Given the description of an element on the screen output the (x, y) to click on. 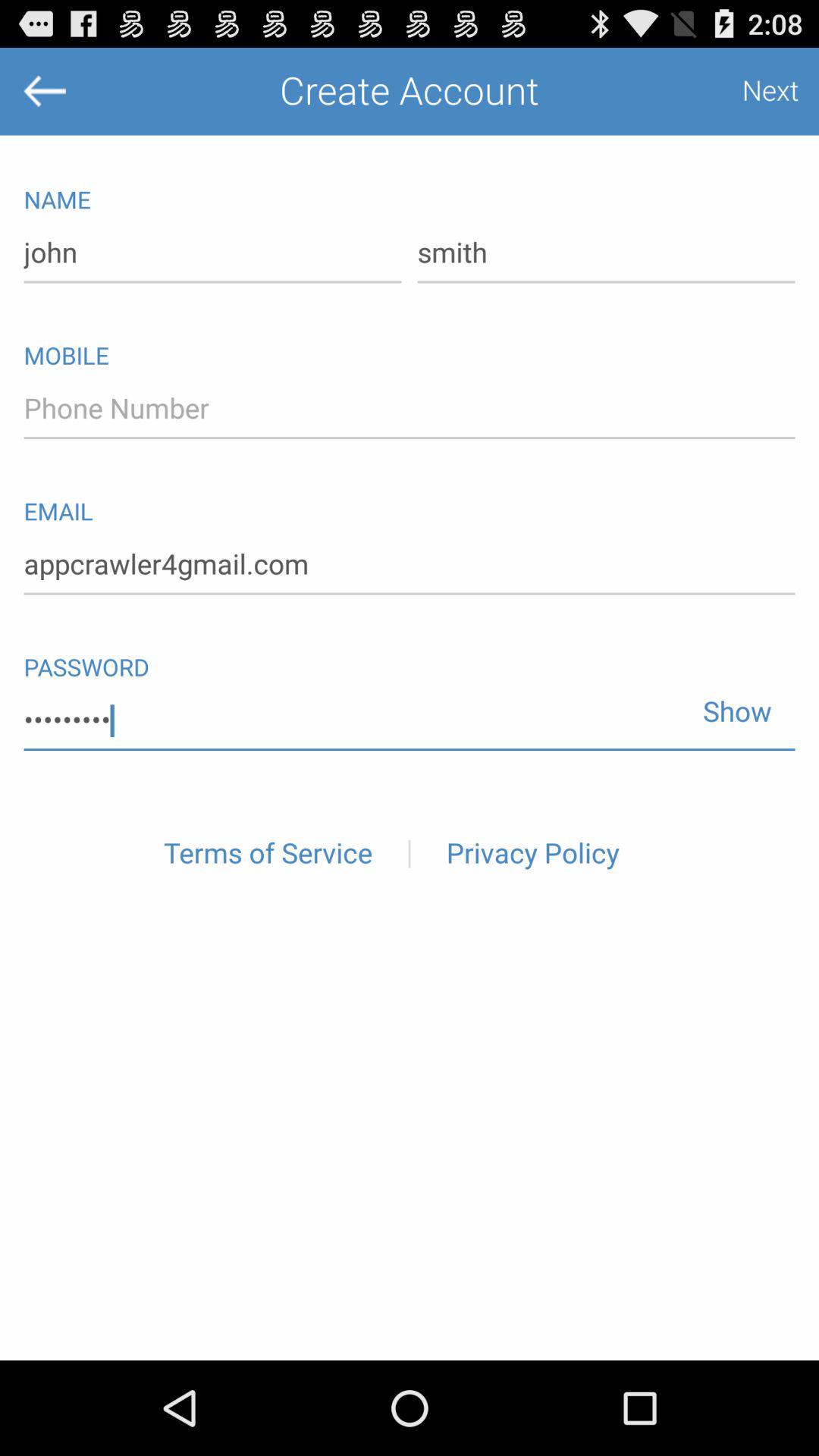
turn off the button above the terms of service (409, 720)
